Given the description of an element on the screen output the (x, y) to click on. 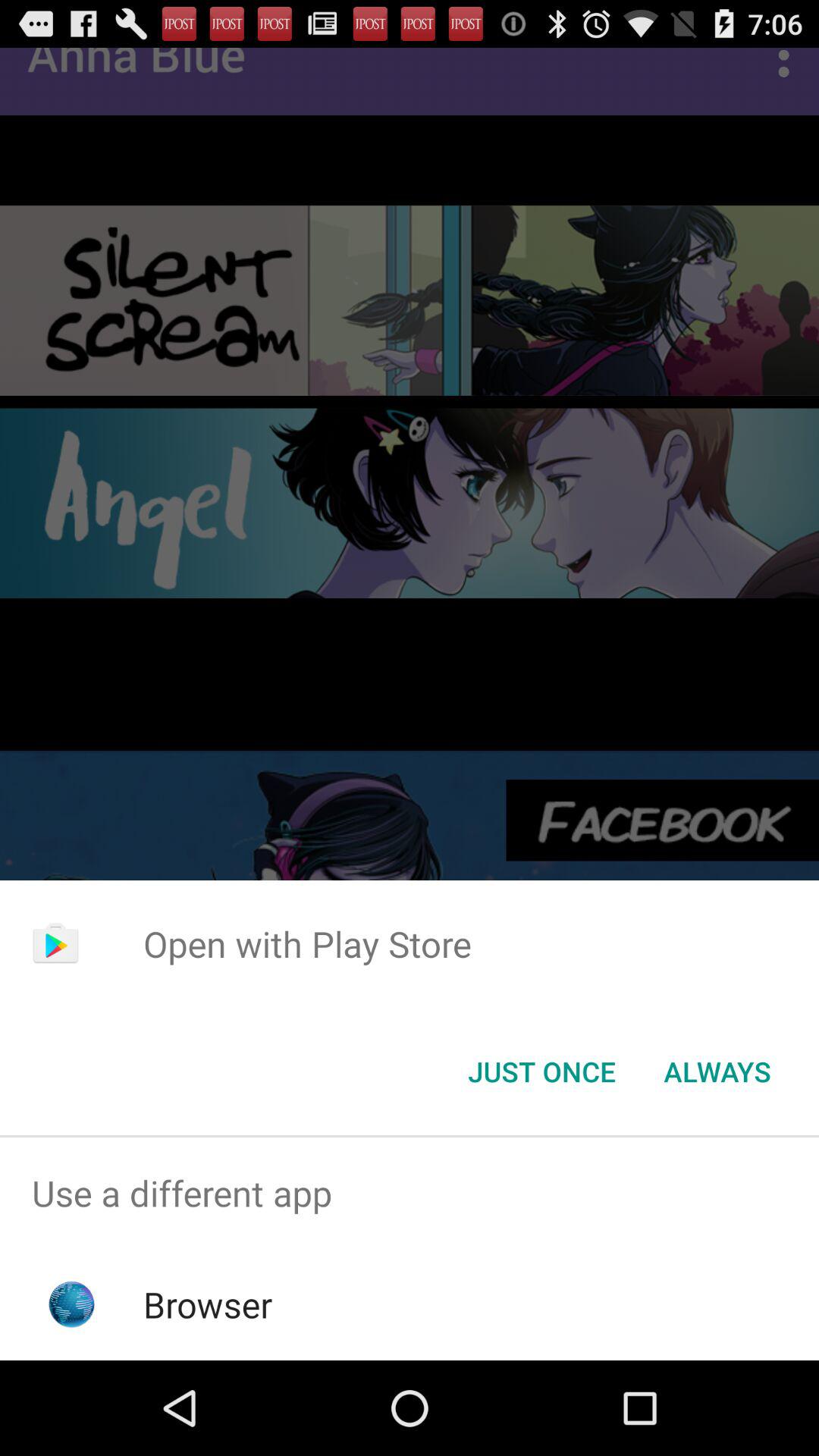
turn off icon above the browser icon (409, 1192)
